Given the description of an element on the screen output the (x, y) to click on. 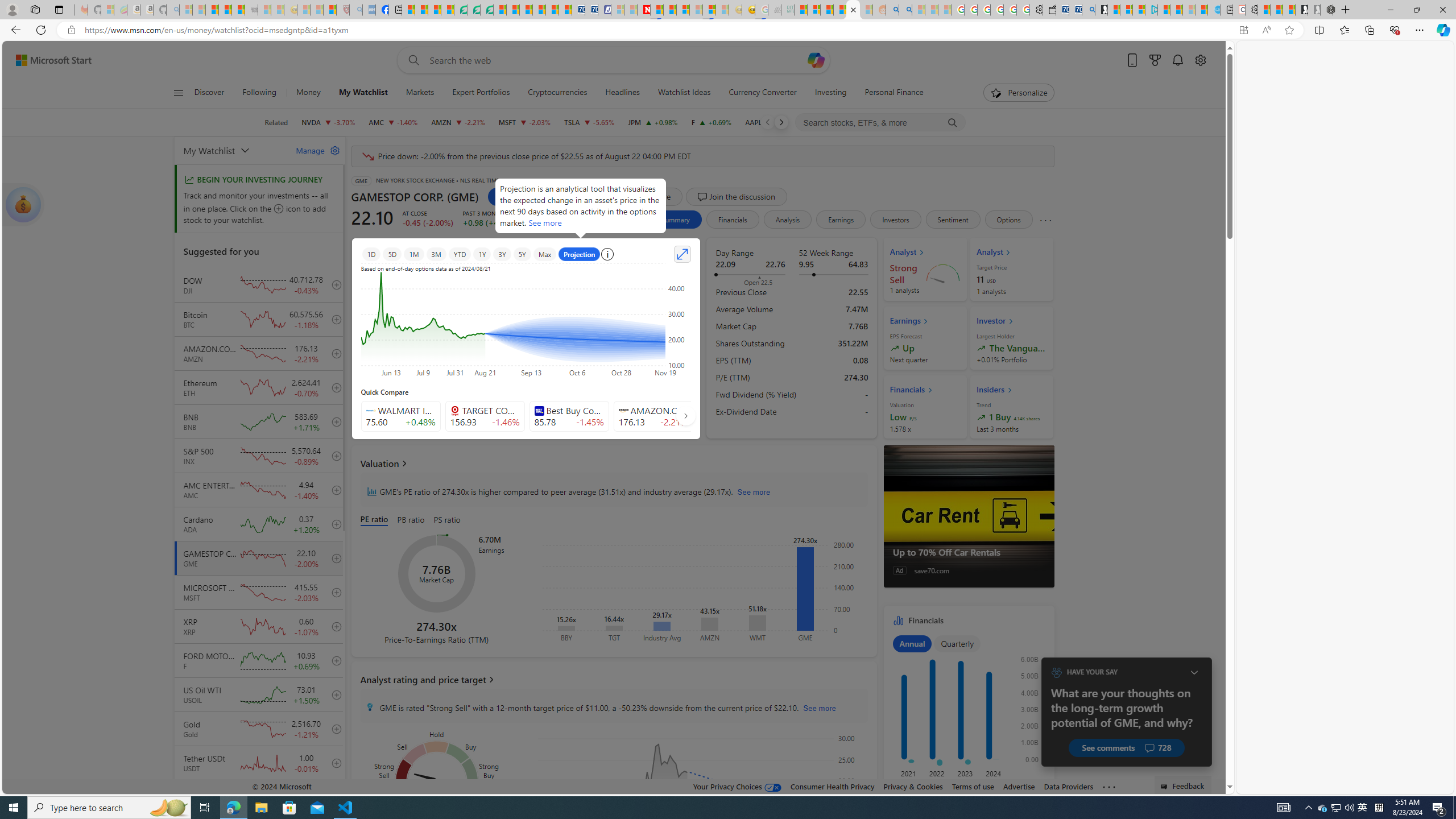
Advertise (1019, 785)
list of asthma inhalers uk - Search - Sleeping (355, 9)
Local - MSN (329, 9)
Watchlist (519, 196)
Terms of Use Agreement (473, 9)
Web search (411, 60)
Utah sues federal government - Search (905, 9)
Personal Finance (889, 92)
